Given the description of an element on the screen output the (x, y) to click on. 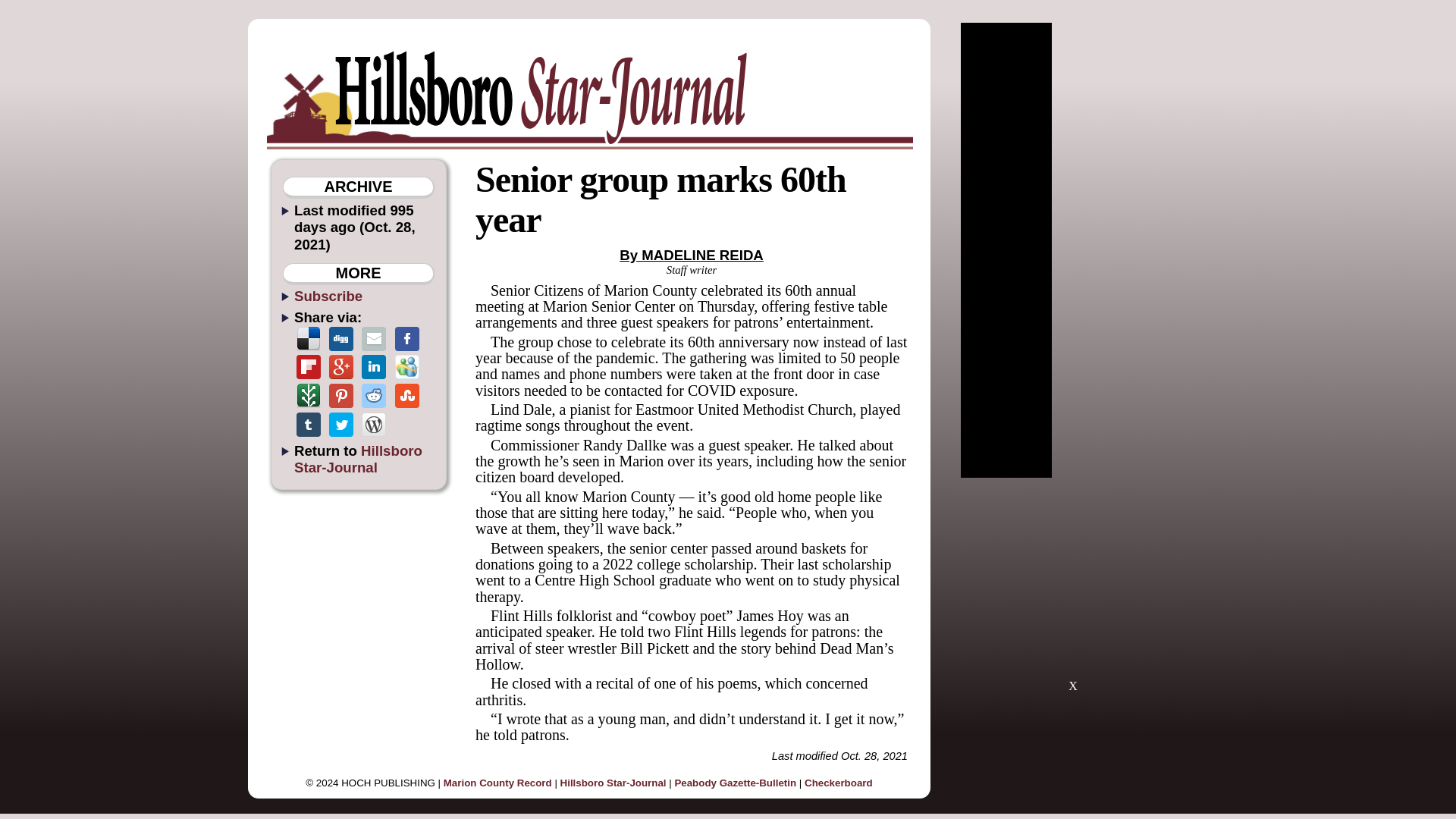
Checkerboard (838, 782)
Subscribe (328, 295)
Hillsboro Star-Journal (613, 782)
Hillsboro Star-Journal (358, 459)
Peabody Gazette-Bulletin (735, 782)
Marion County Record (497, 782)
Advertisement (1072, 591)
